Given the description of an element on the screen output the (x, y) to click on. 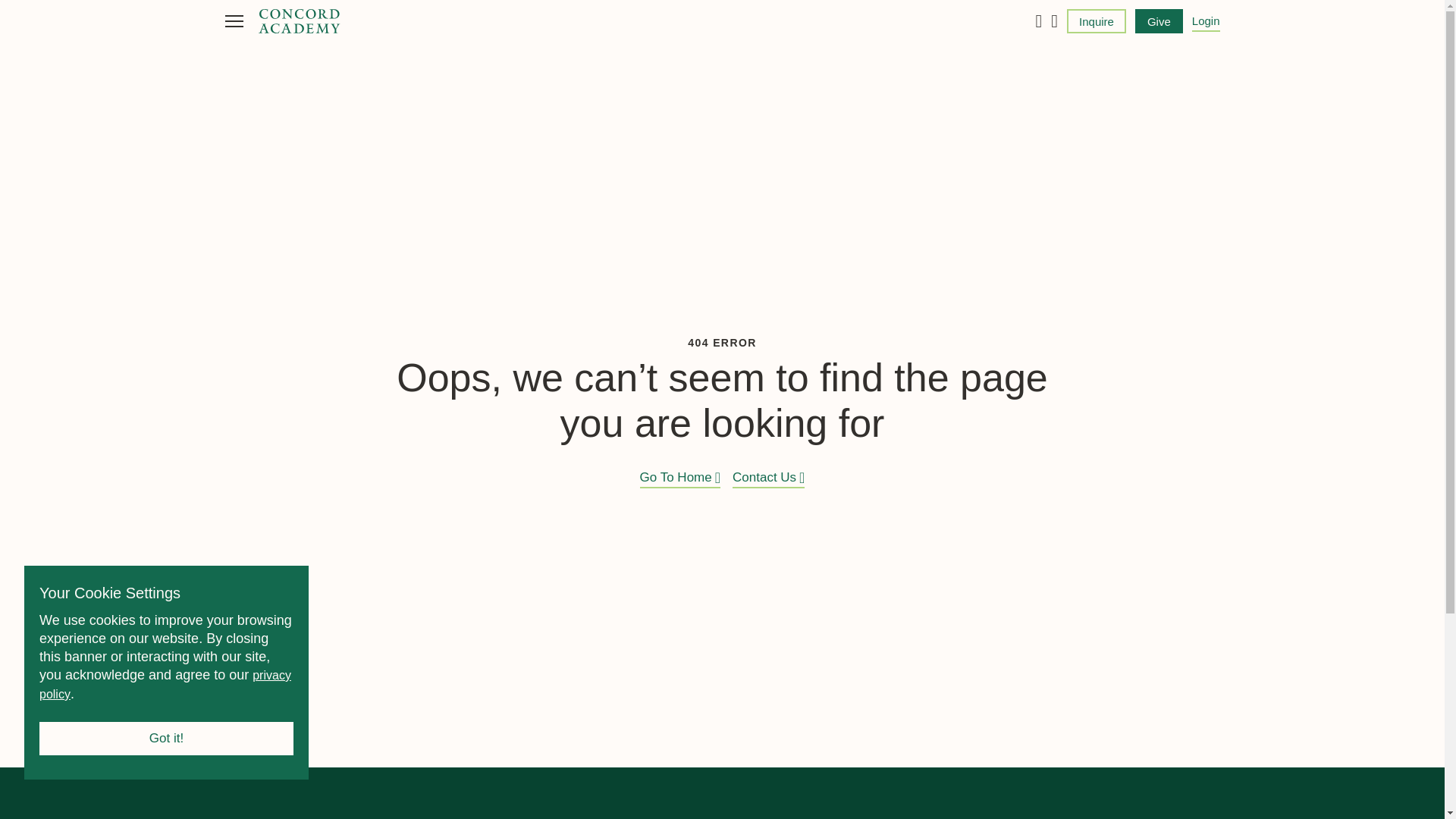
Accept All (166, 738)
Login (1206, 20)
Menu (233, 21)
Inquire (1096, 21)
Give (1158, 21)
